Given the description of an element on the screen output the (x, y) to click on. 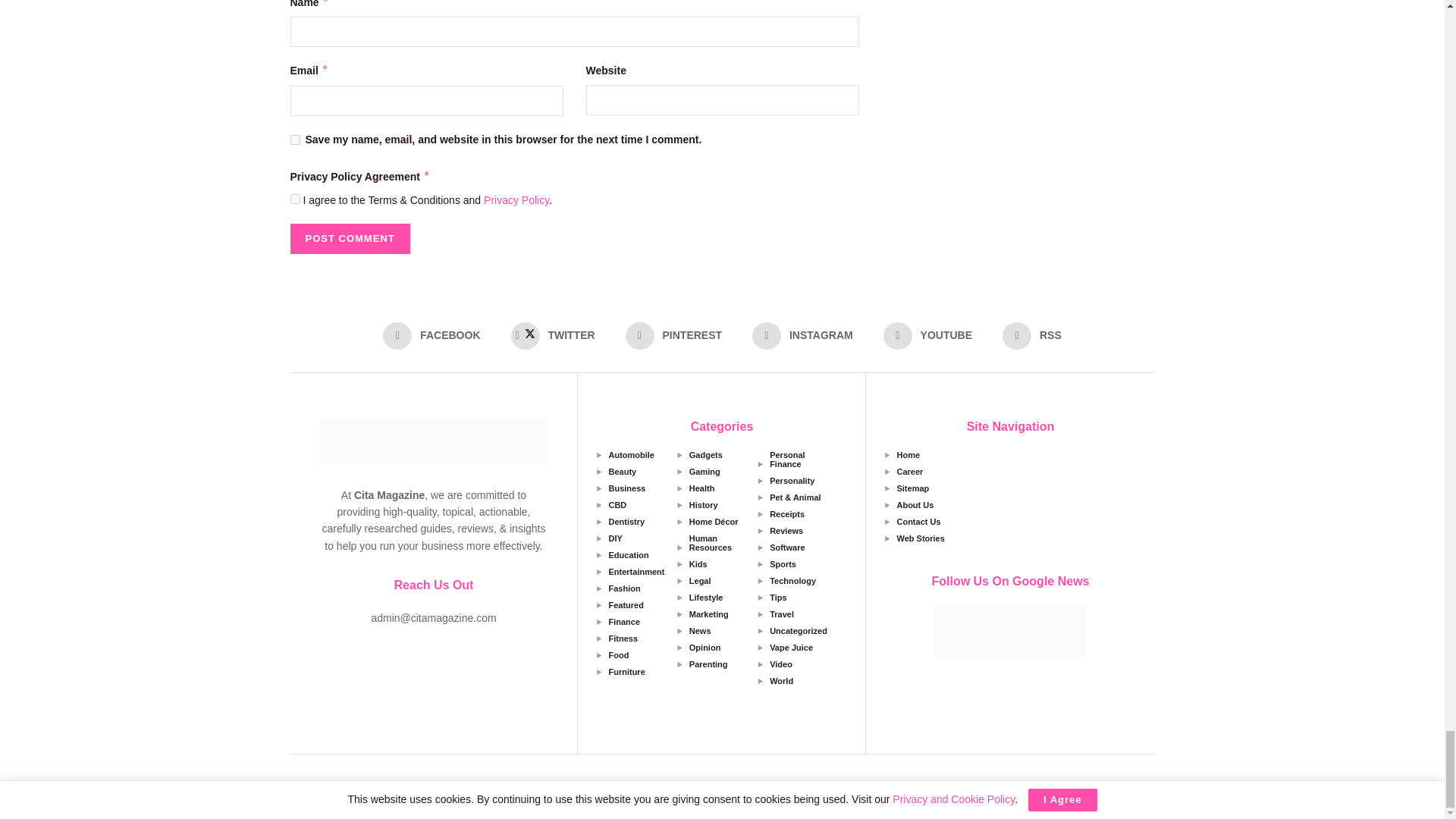
Post Comment (349, 238)
yes (294, 139)
on (294, 198)
